Given the description of an element on the screen output the (x, y) to click on. 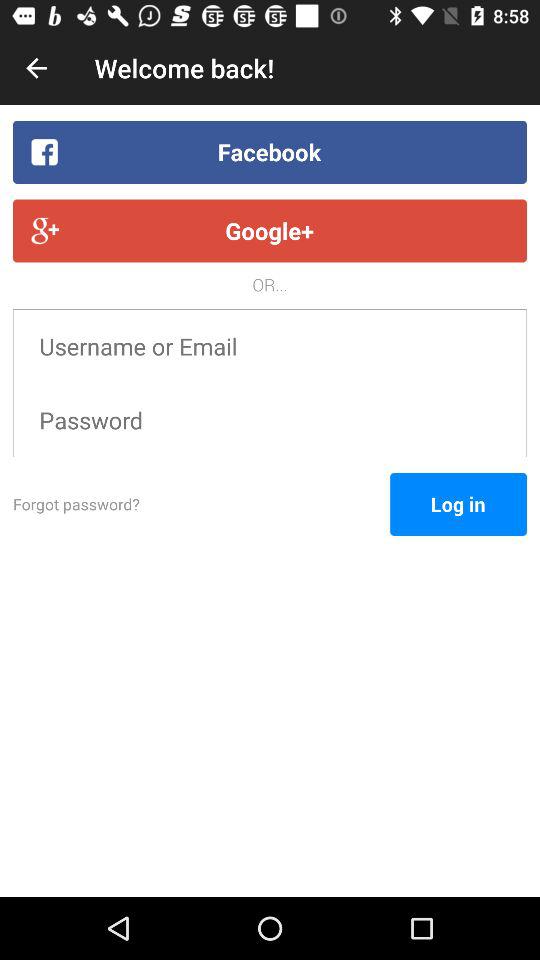
scroll until forgot password? icon (201, 503)
